Given the description of an element on the screen output the (x, y) to click on. 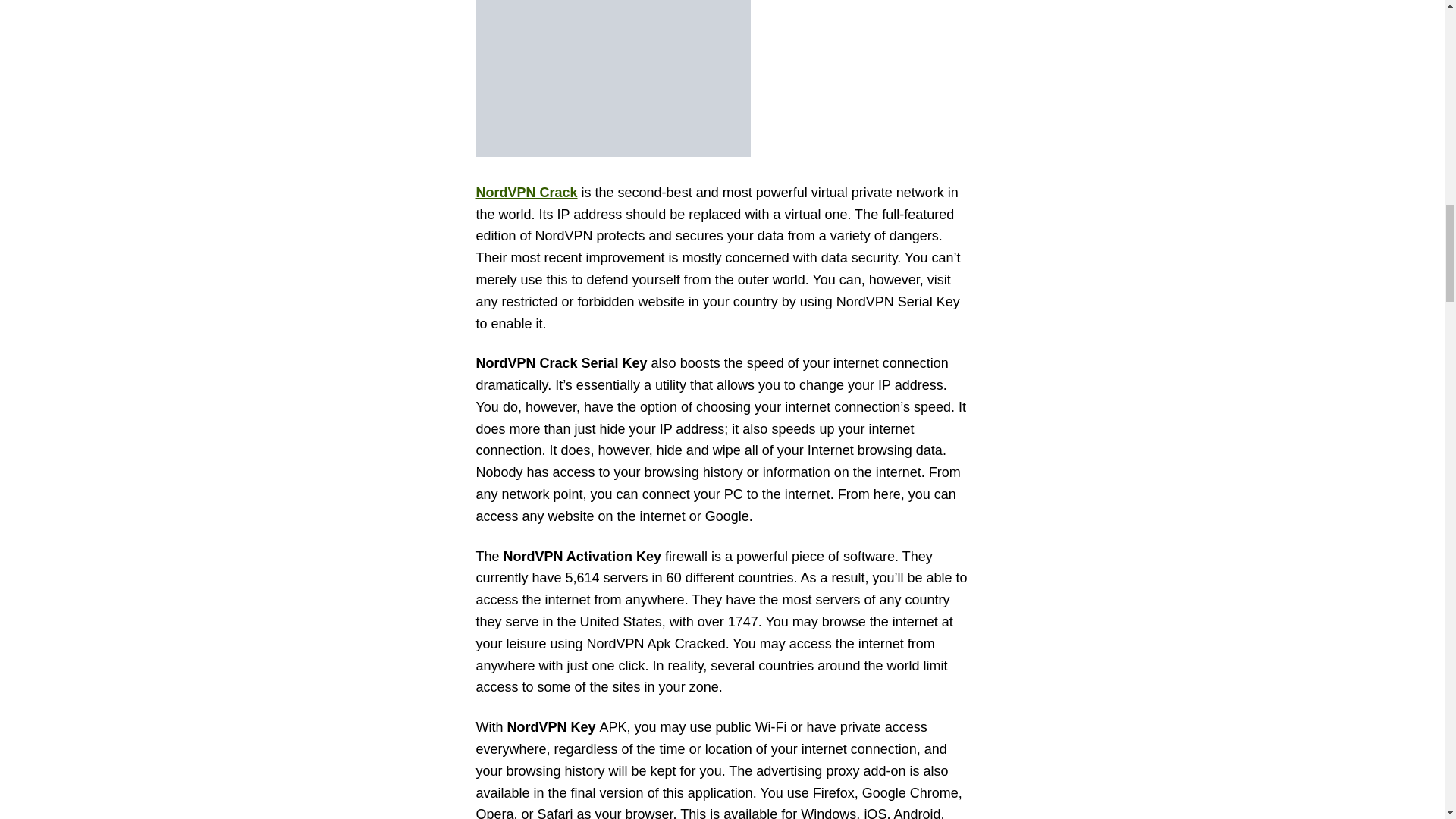
NordVPN Crack (527, 192)
